Given the description of an element on the screen output the (x, y) to click on. 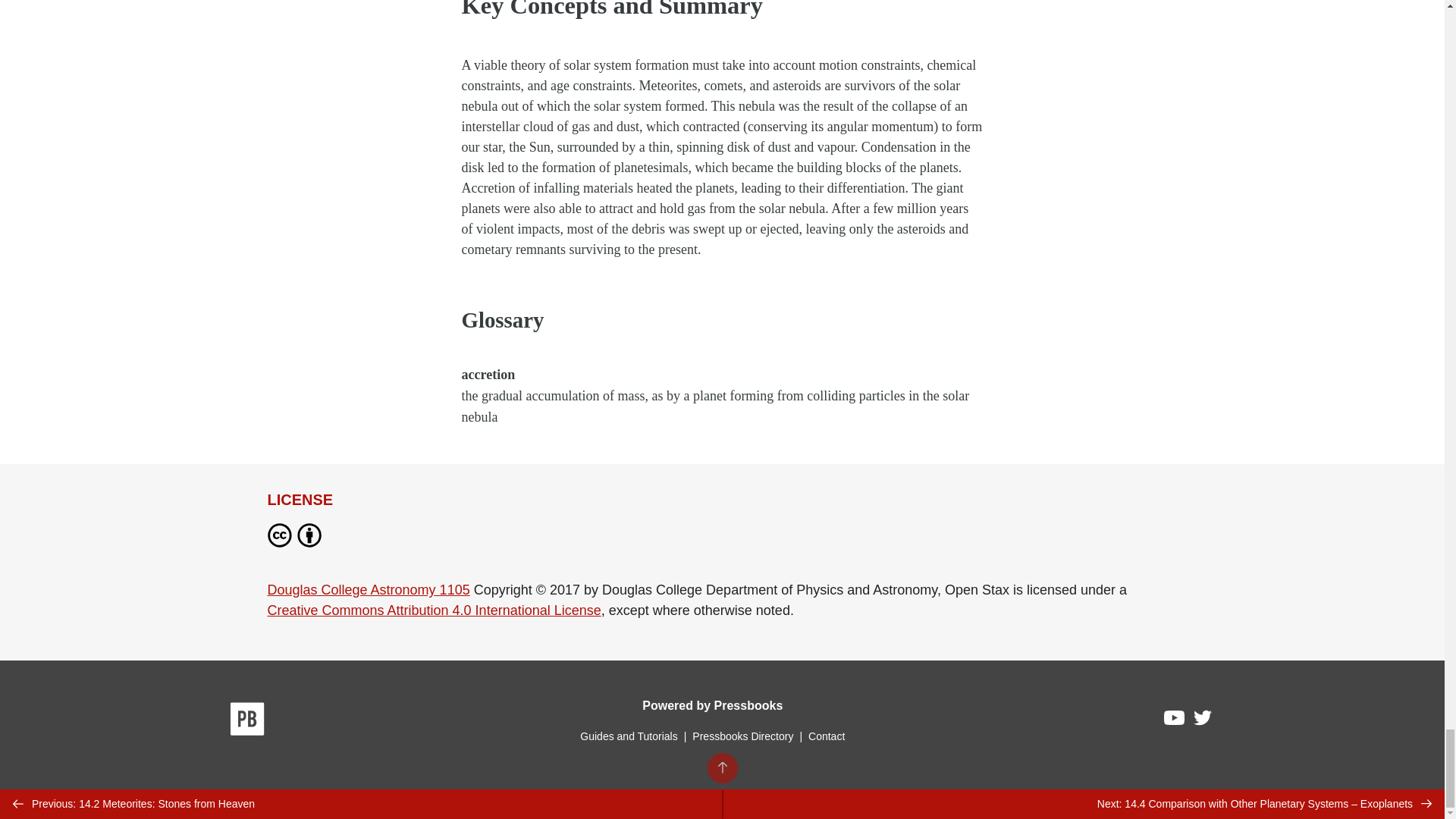
Pressbooks on YouTube (1174, 721)
Powered by Pressbooks (712, 705)
Pressbooks Directory (742, 736)
Contact (826, 736)
Creative Commons Attribution 4.0 International License (432, 610)
Douglas College Astronomy 1105 (367, 589)
Guides and Tutorials (627, 736)
